Given the description of an element on the screen output the (x, y) to click on. 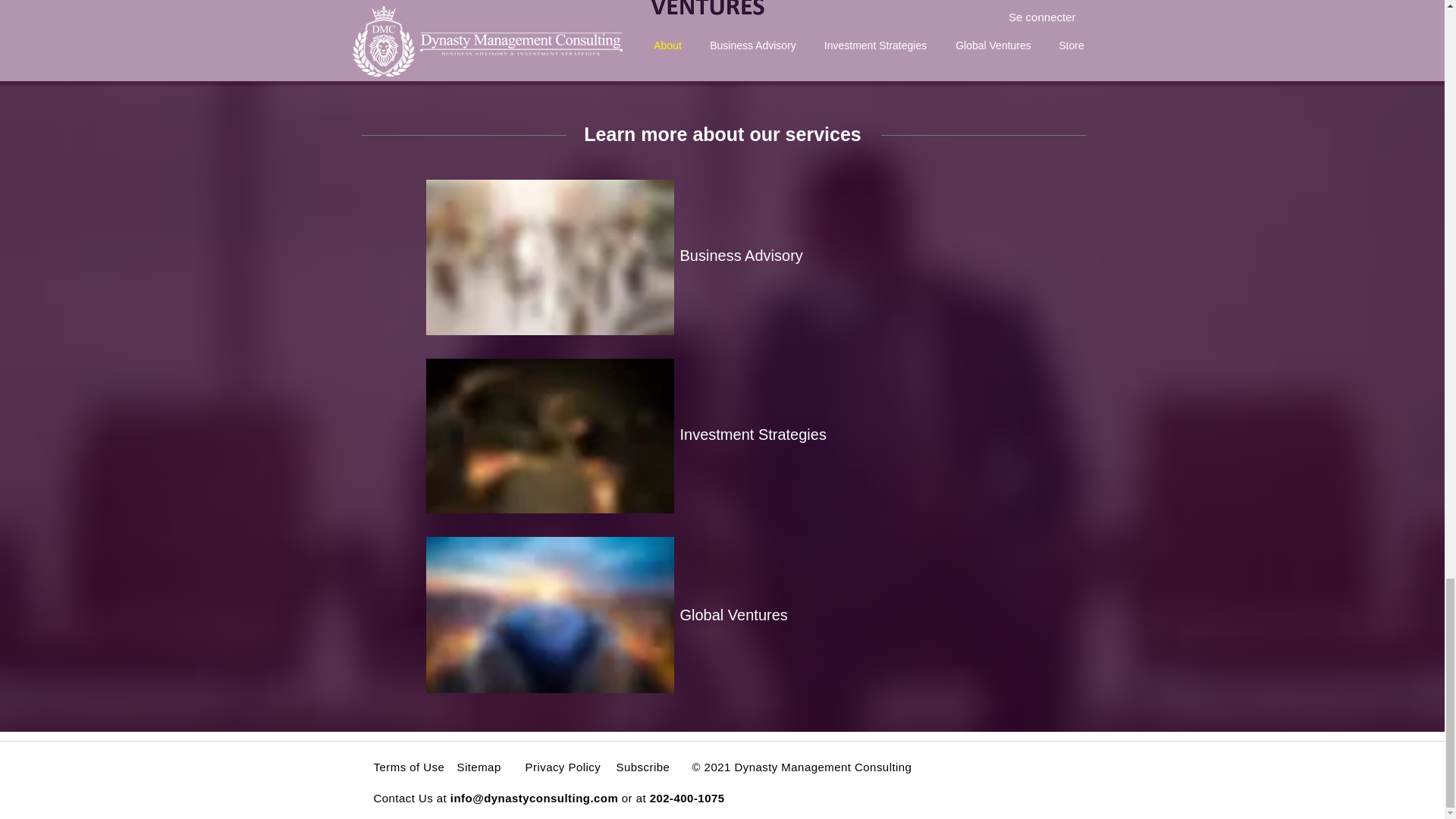
Investment Strategies (752, 434)
Business Advisory (740, 255)
Sitemap (478, 767)
Privacy Policy (561, 767)
Global Ventures (733, 614)
Subscribe (642, 767)
